Given the description of an element on the screen output the (x, y) to click on. 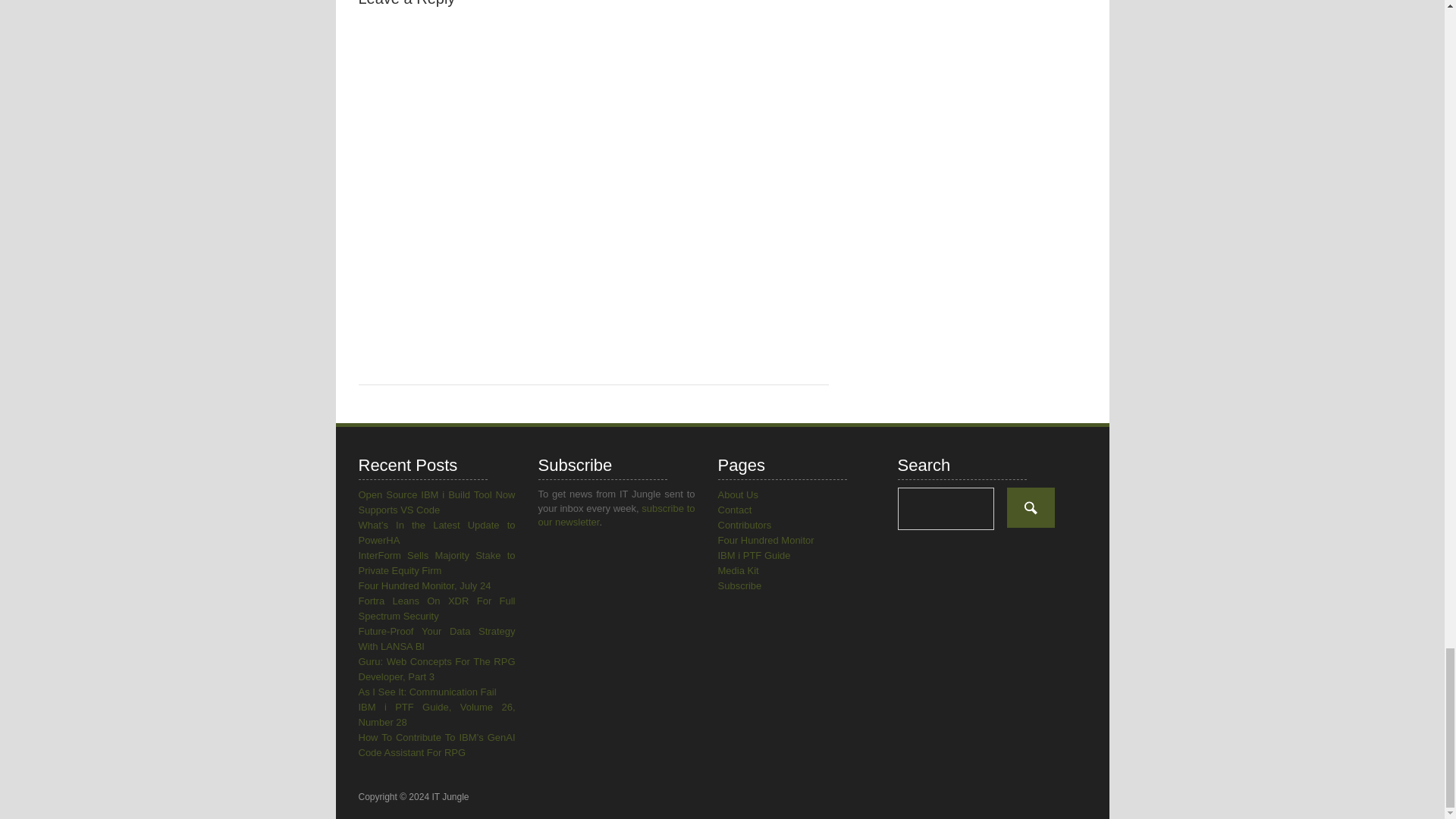
Search (1030, 507)
